Given the description of an element on the screen output the (x, y) to click on. 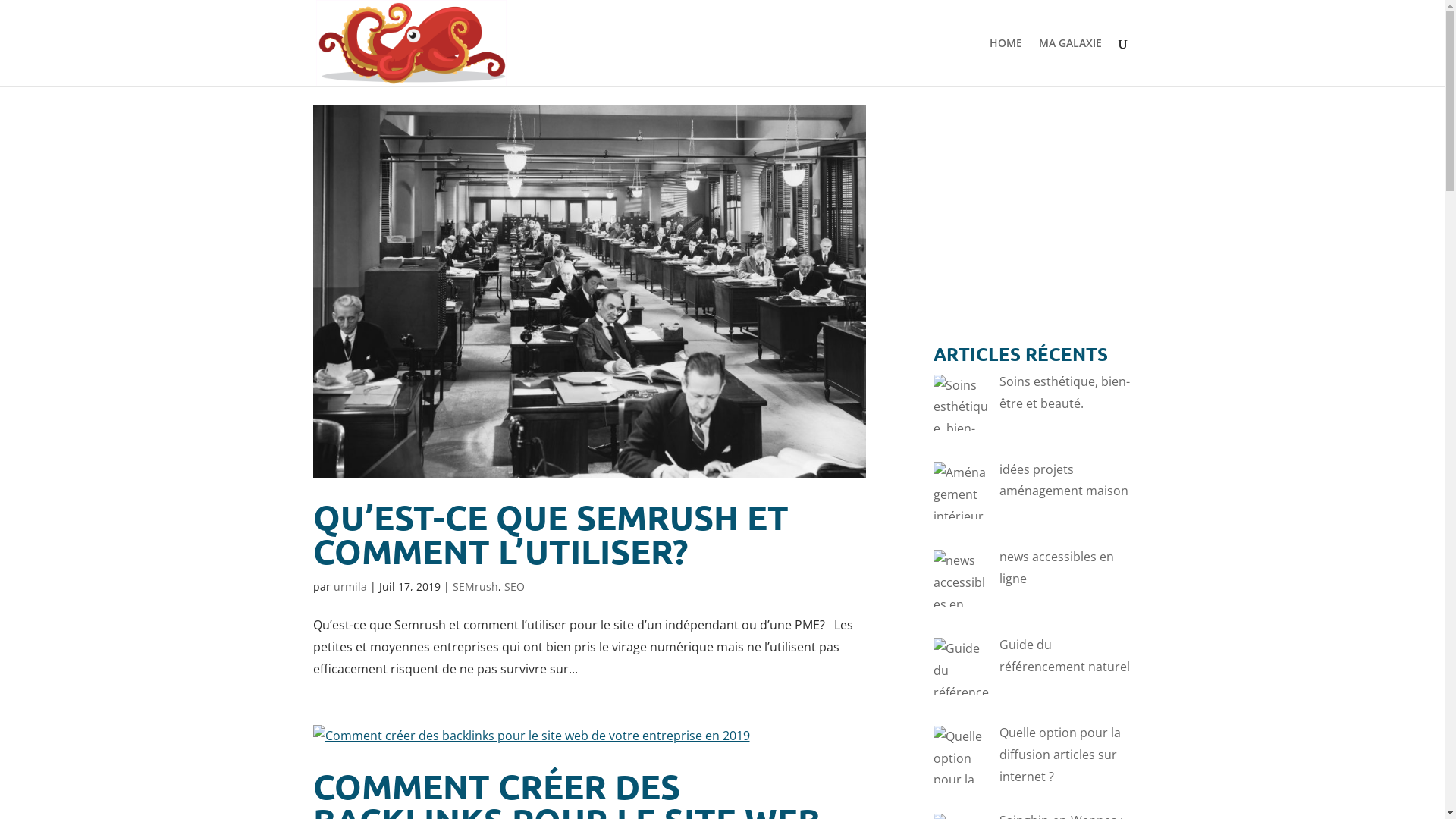
SEO Element type: text (513, 586)
MA GALAXIE Element type: text (1069, 61)
Quelle option pour la diffusion articles sur internet ? Element type: text (1059, 754)
SEMrush Element type: text (474, 586)
HOME Element type: text (1004, 61)
news accessibles en ligne Element type: text (1056, 567)
urmila Element type: text (350, 586)
